Given the description of an element on the screen output the (x, y) to click on. 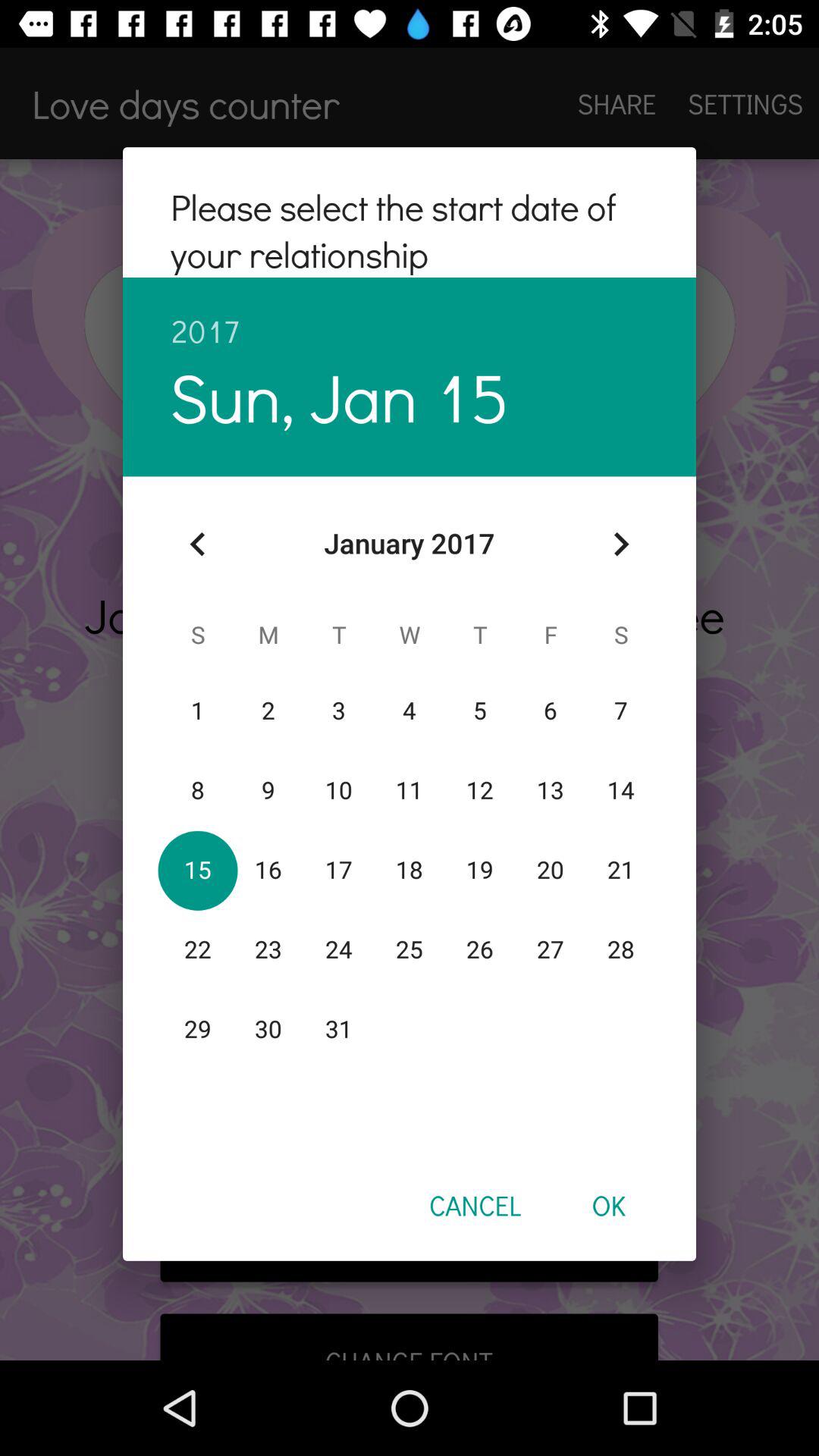
swipe to ok item (608, 1204)
